Given the description of an element on the screen output the (x, y) to click on. 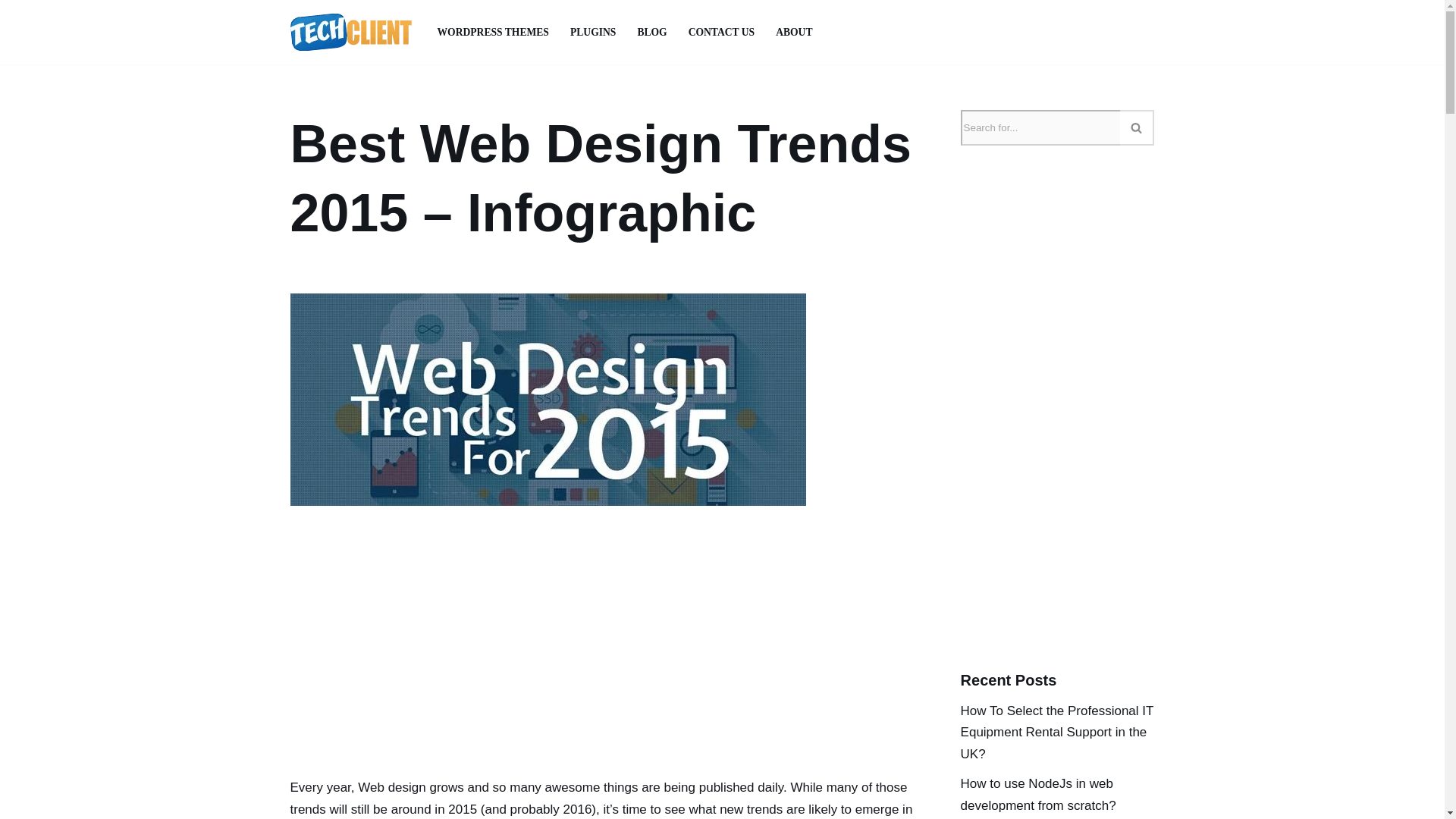
PLUGINS (592, 31)
Advertisement (601, 664)
How to use NodeJs in web development from scratch? (1038, 794)
Skip to content (11, 31)
BLOG (651, 31)
WORDPRESS THEMES (492, 31)
Advertisement (1074, 534)
ABOUT (794, 31)
CONTACT US (721, 31)
